Given the description of an element on the screen output the (x, y) to click on. 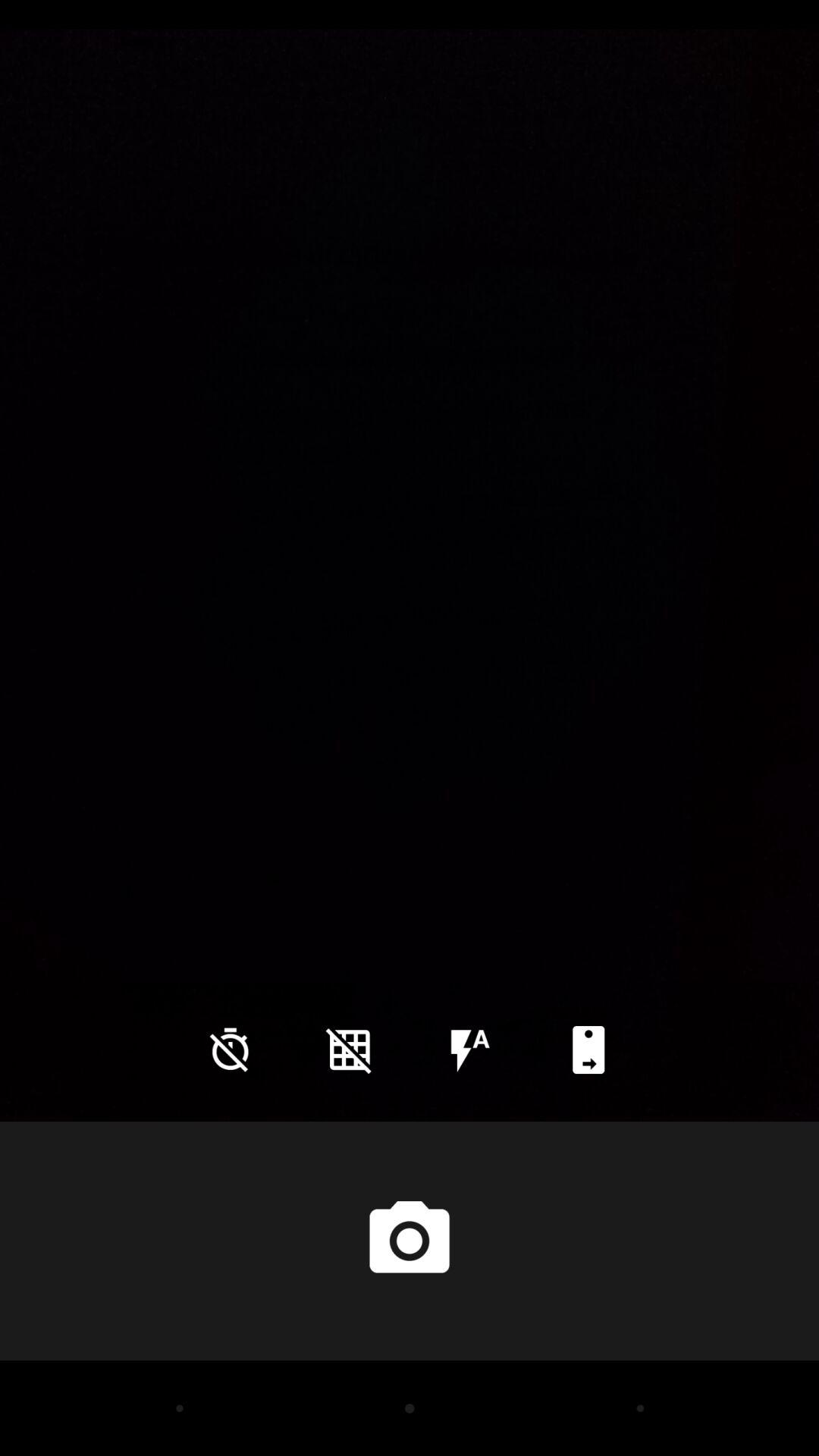
tap item at the bottom right corner (588, 1049)
